Given the description of an element on the screen output the (x, y) to click on. 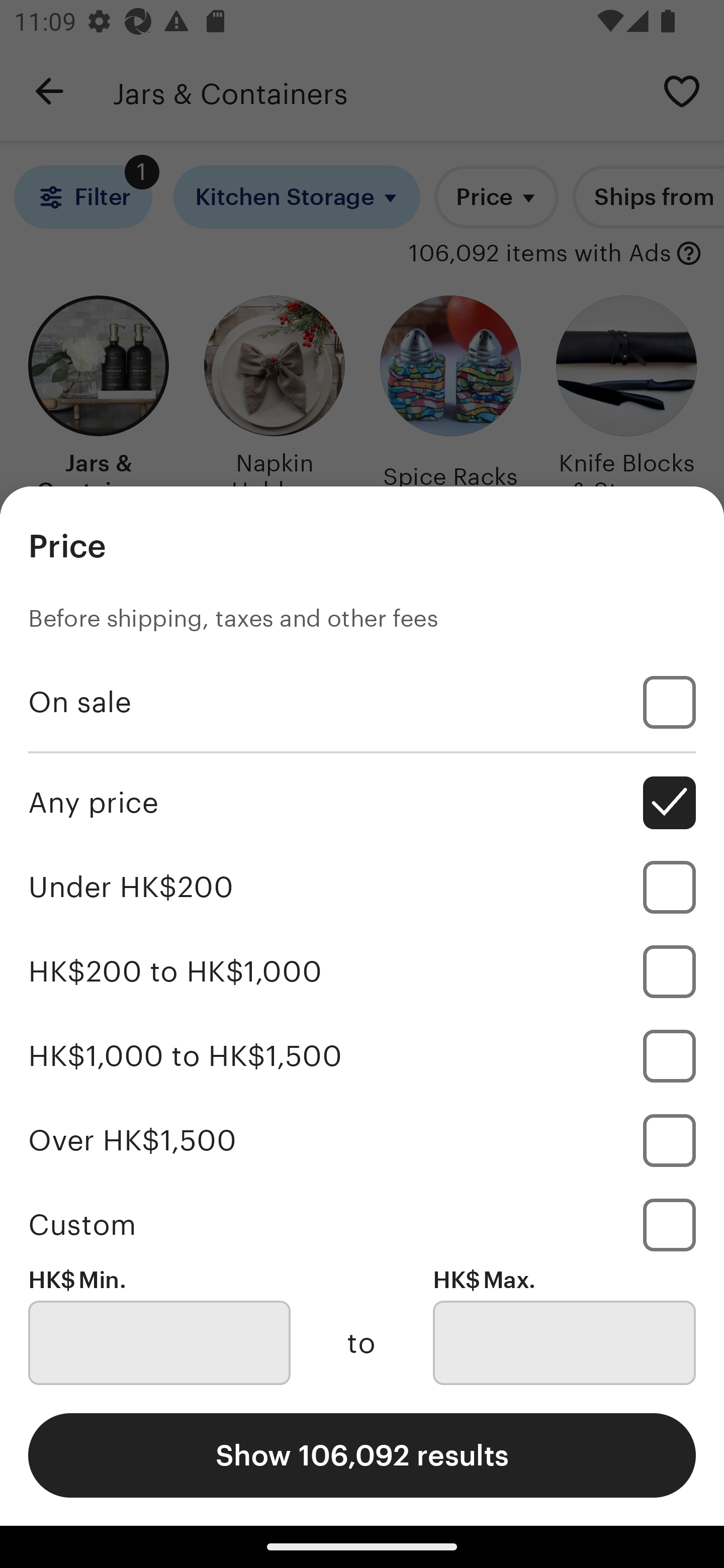
On sale (362, 702)
Any price (362, 802)
Under HK$200 (362, 887)
HK$200 to HK$1,000 (362, 970)
HK$1,000 to HK$1,500 (362, 1054)
Over HK$1,500 (362, 1139)
Custom (362, 1224)
Show 106,092 results (361, 1454)
